Given the description of an element on the screen output the (x, y) to click on. 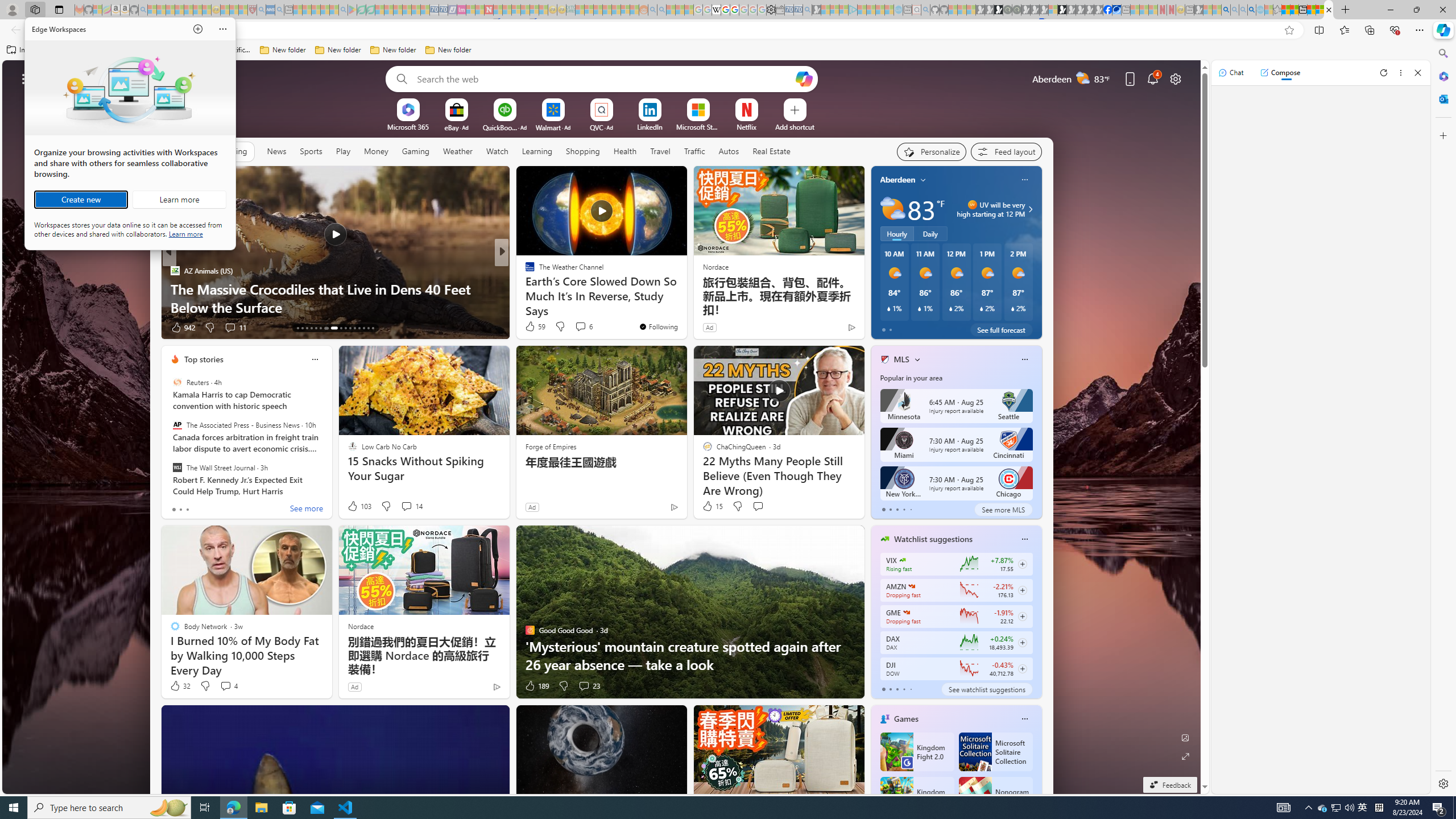
View comments 8 Comment (580, 327)
AutomationID: tab-18 (320, 328)
CBOE Market Volatility Index (901, 559)
Travel (1362, 807)
59 Like (660, 151)
